Given the description of an element on the screen output the (x, y) to click on. 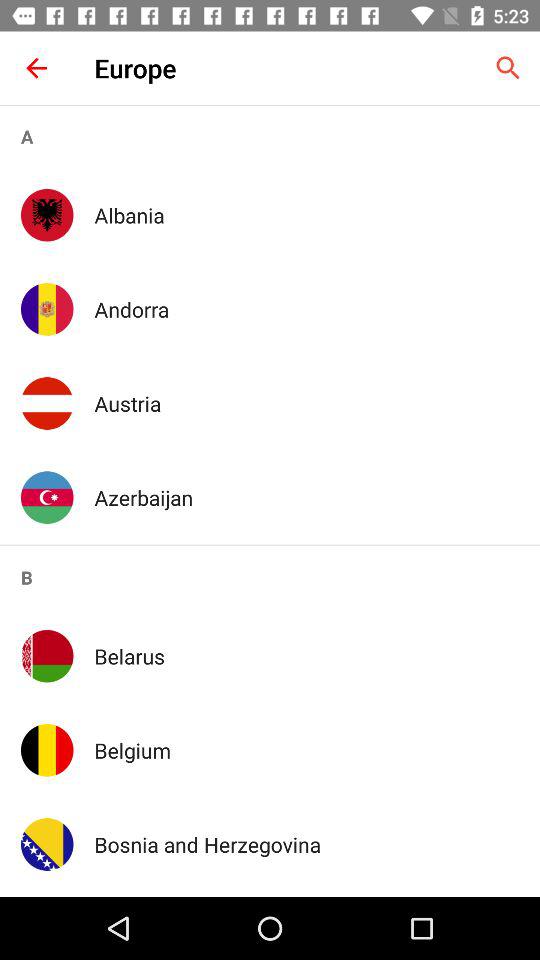
choose icon next to austria icon (47, 403)
